Given the description of an element on the screen output the (x, y) to click on. 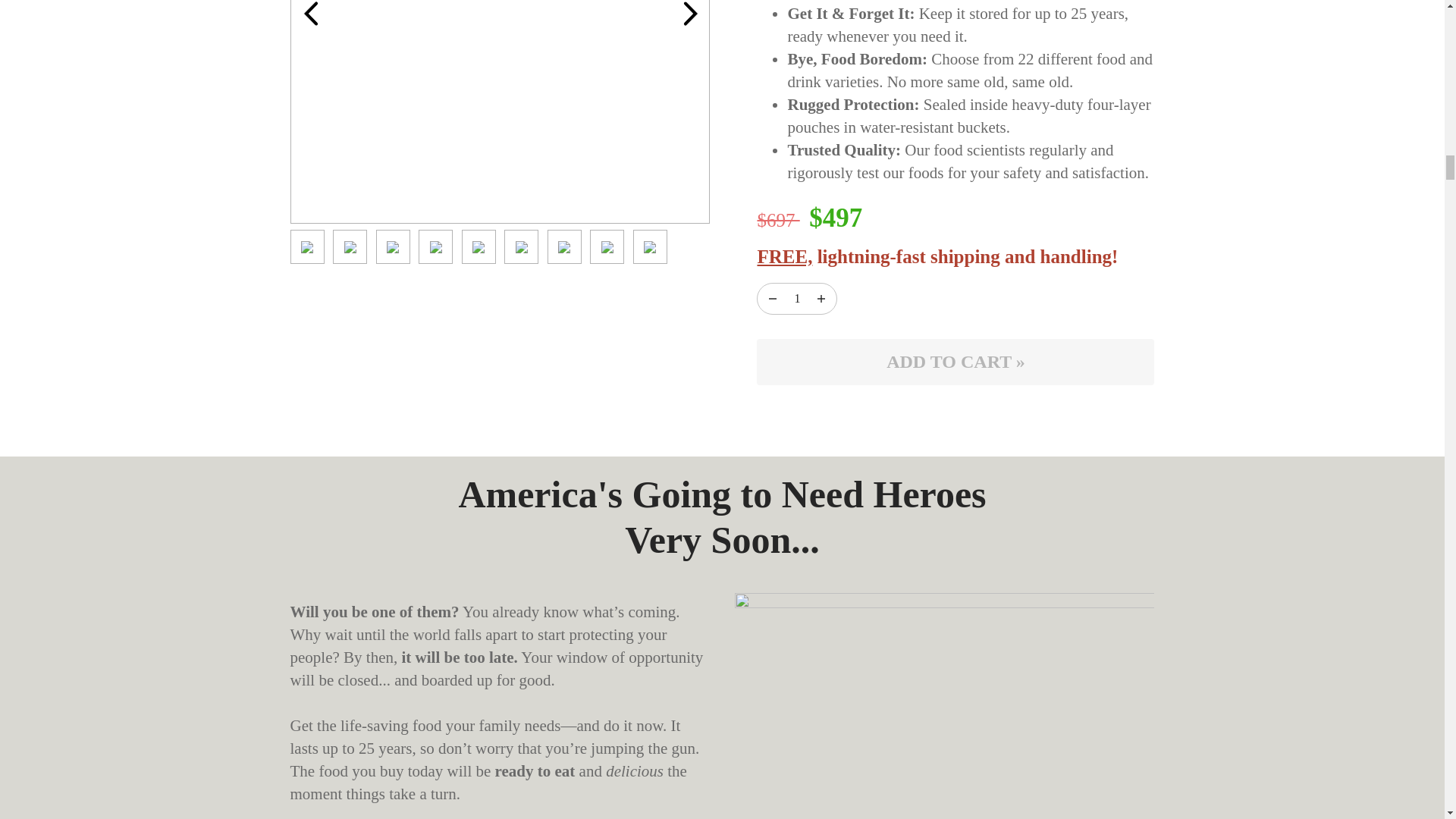
Go to the previous slide Preview (310, 16)
Go to the next slide Next (690, 16)
1 (796, 298)
Quantity (796, 298)
Quantity (820, 298)
Quantity (772, 298)
Go to the next slide (690, 14)
Go to the previous slide (310, 14)
